Given the description of an element on the screen output the (x, y) to click on. 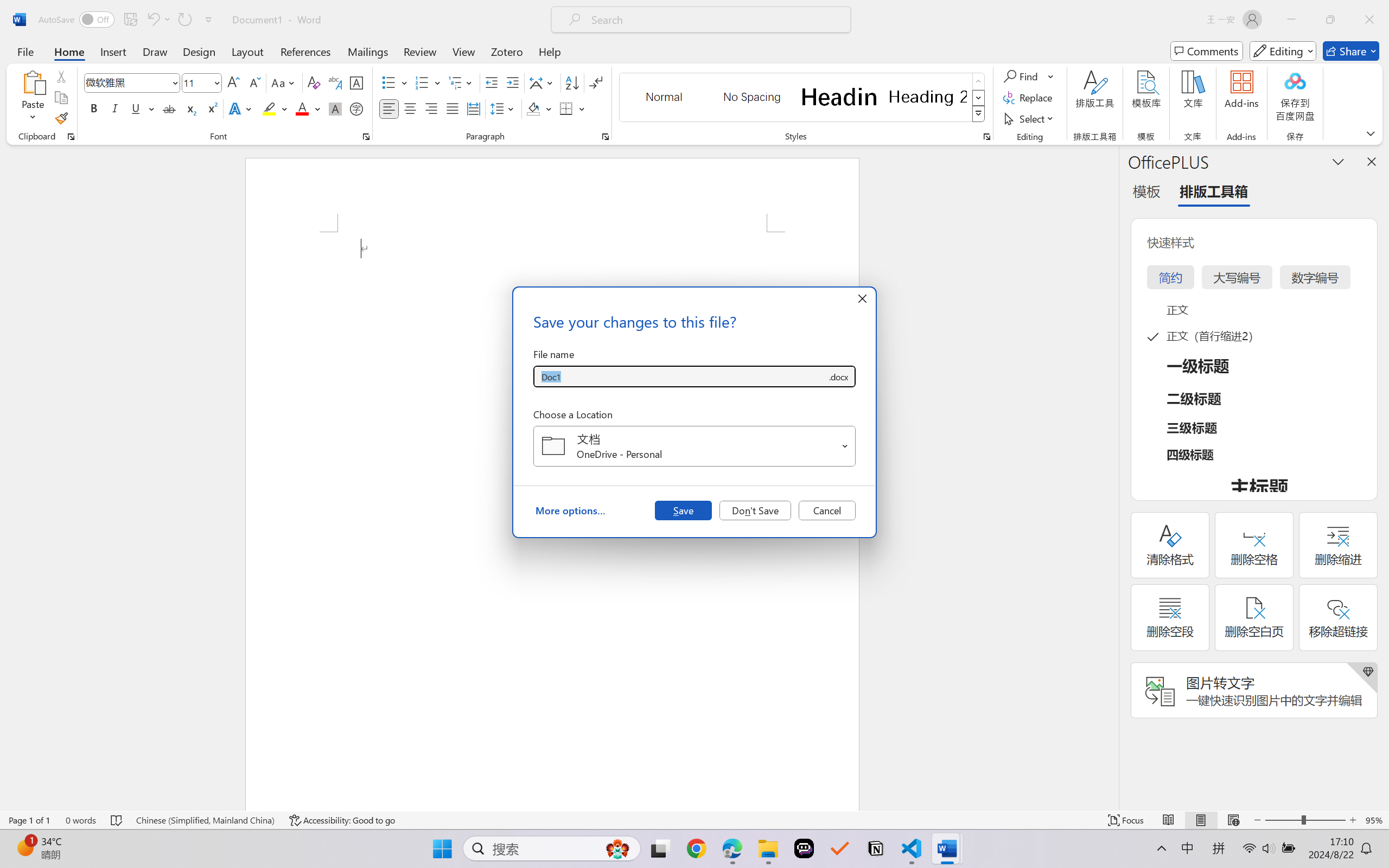
File name (680, 376)
Microsoft search (715, 19)
